Given the description of an element on the screen output the (x, y) to click on. 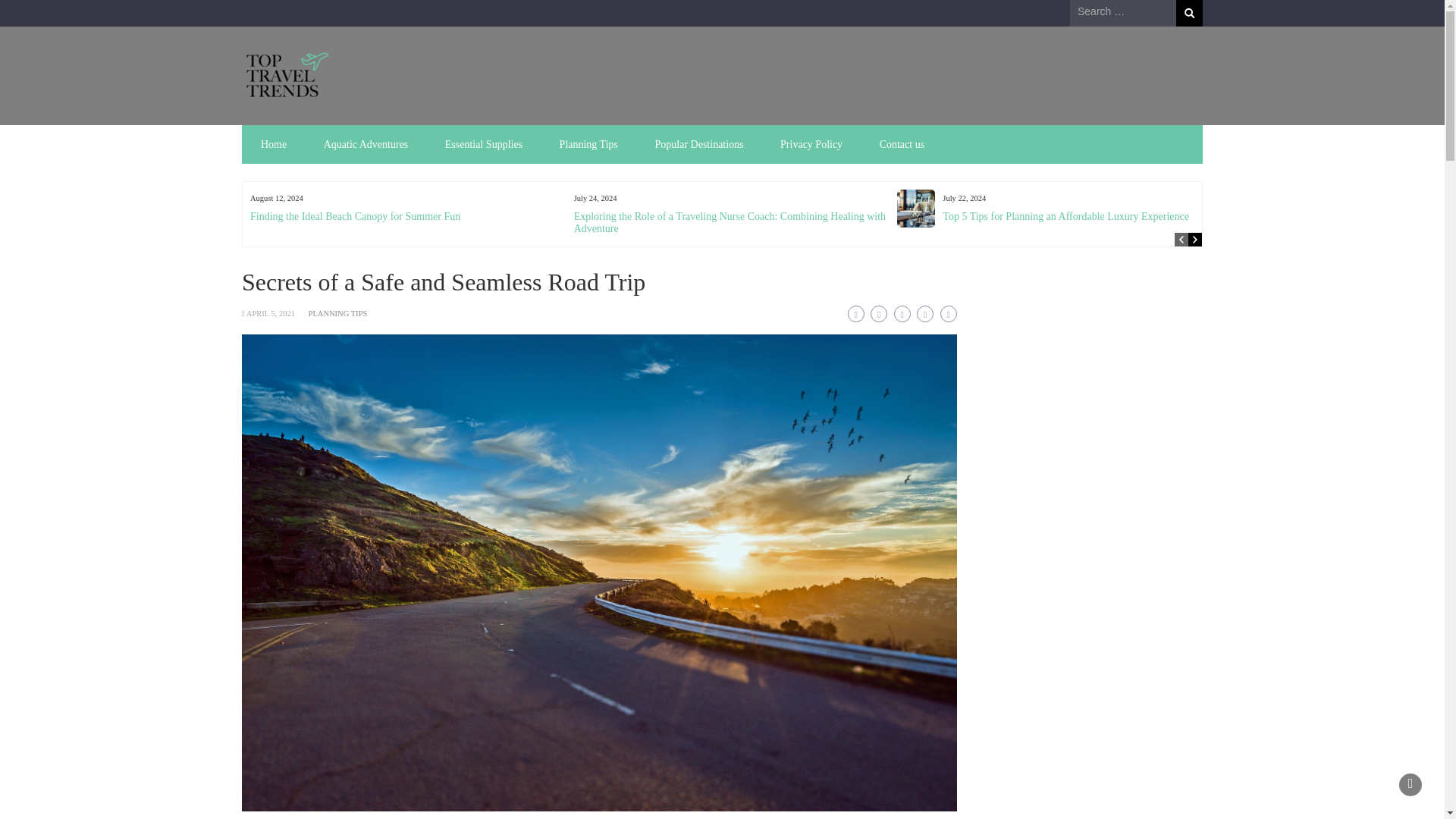
Search (1189, 13)
Privacy Policy (811, 144)
Home (273, 144)
Popular Destinations (699, 144)
Top 5 Tips for Planning an Affordable Luxury Experience (1065, 215)
Essential Supplies (483, 144)
Contact us (902, 144)
Search (1189, 13)
Planning Tips (588, 144)
